Given the description of an element on the screen output the (x, y) to click on. 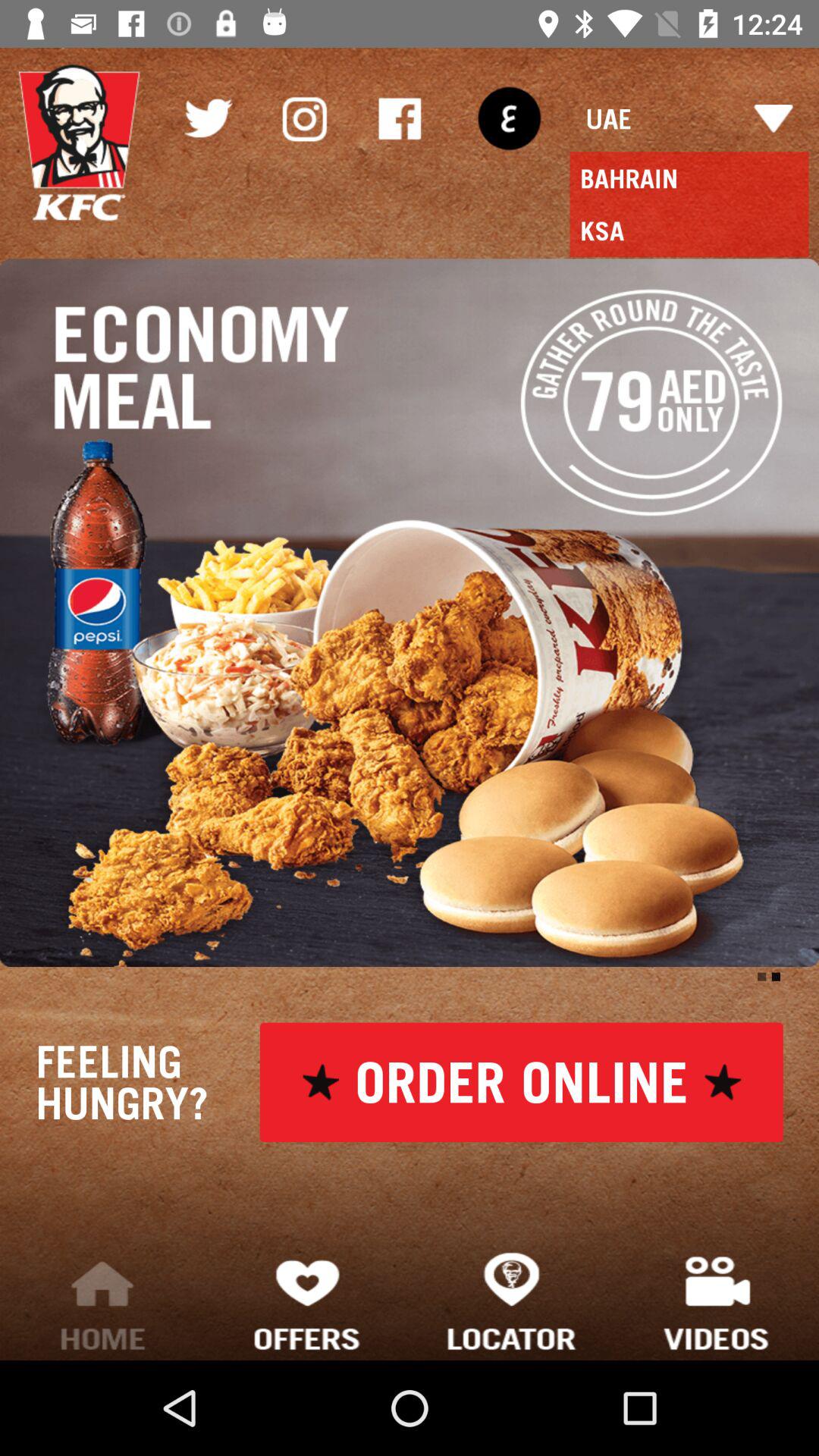
turn on the ksa (688, 230)
